Given the description of an element on the screen output the (x, y) to click on. 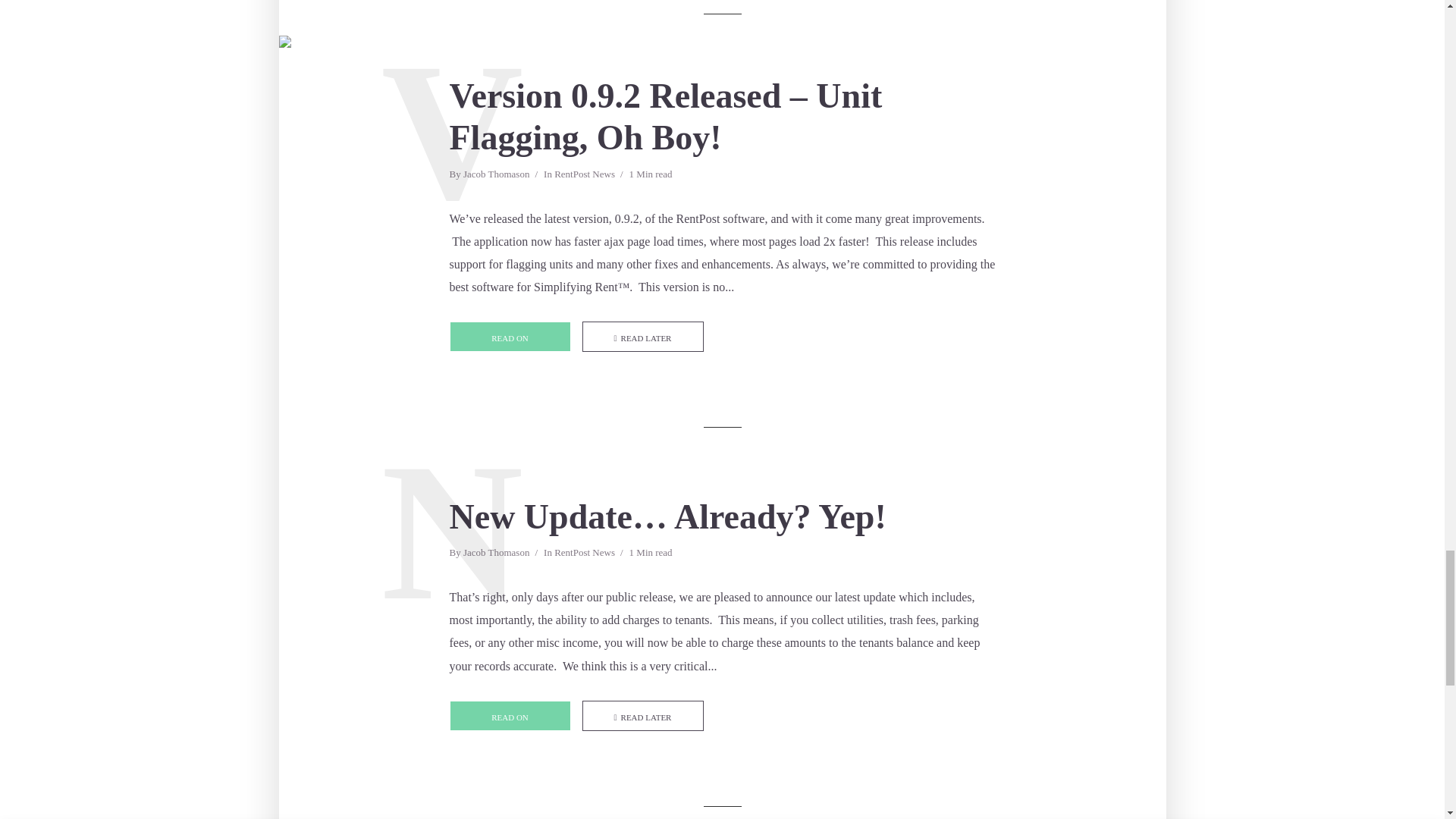
READ ON (509, 336)
Jacob Thomason (496, 554)
Jacob Thomason (496, 175)
RentPost News (584, 554)
READ ON (509, 716)
READ LATER (642, 716)
RentPost News (584, 175)
READ LATER (642, 336)
